Given the description of an element on the screen output the (x, y) to click on. 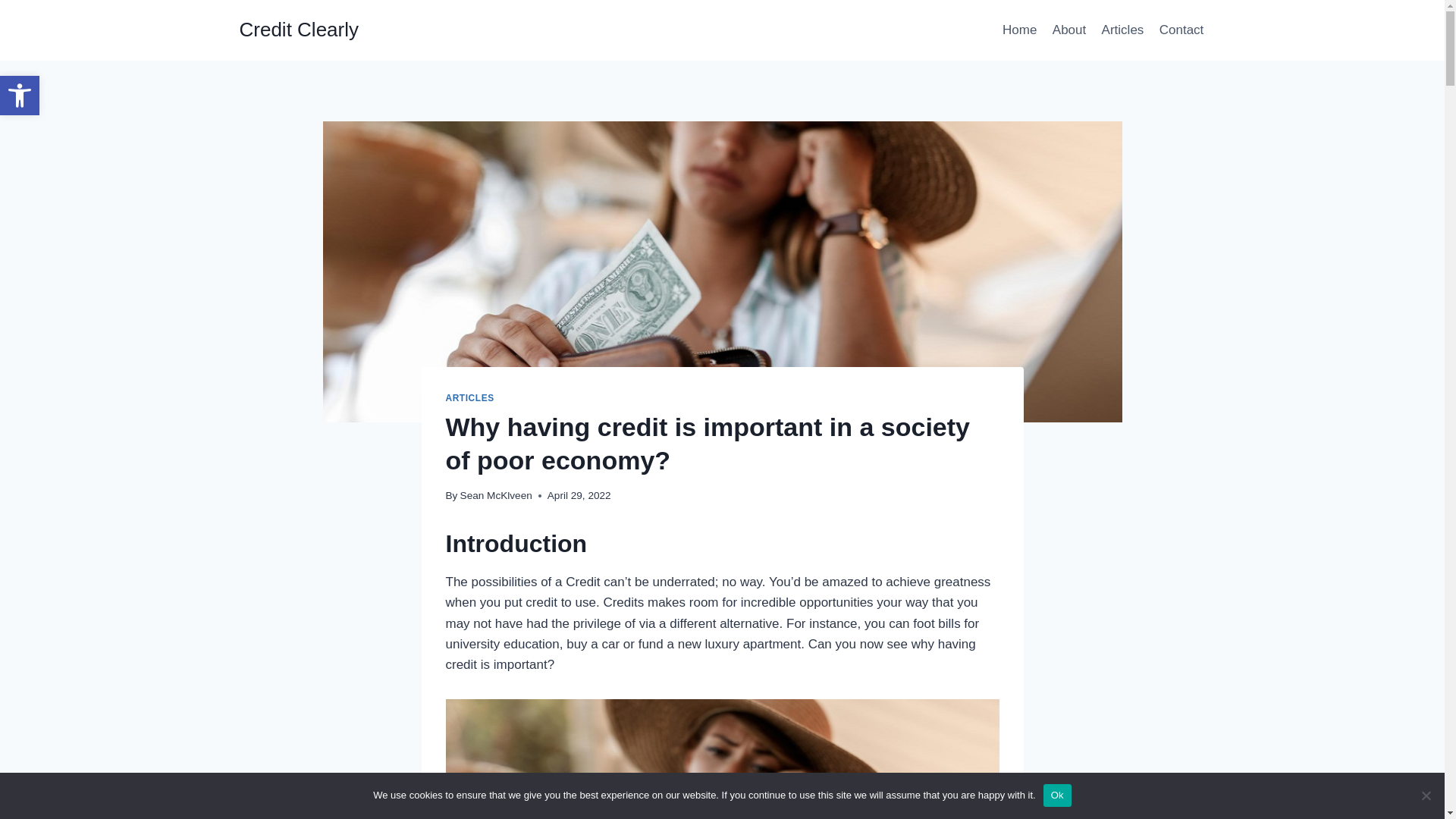
Accessibility Tools (19, 95)
Credit Clearly (299, 29)
Home (1019, 30)
Articles (1122, 30)
Contact (1181, 30)
About (19, 95)
ARTICLES (1069, 30)
Accessibility Tools (470, 398)
Sean McKlveen (19, 95)
